Given the description of an element on the screen output the (x, y) to click on. 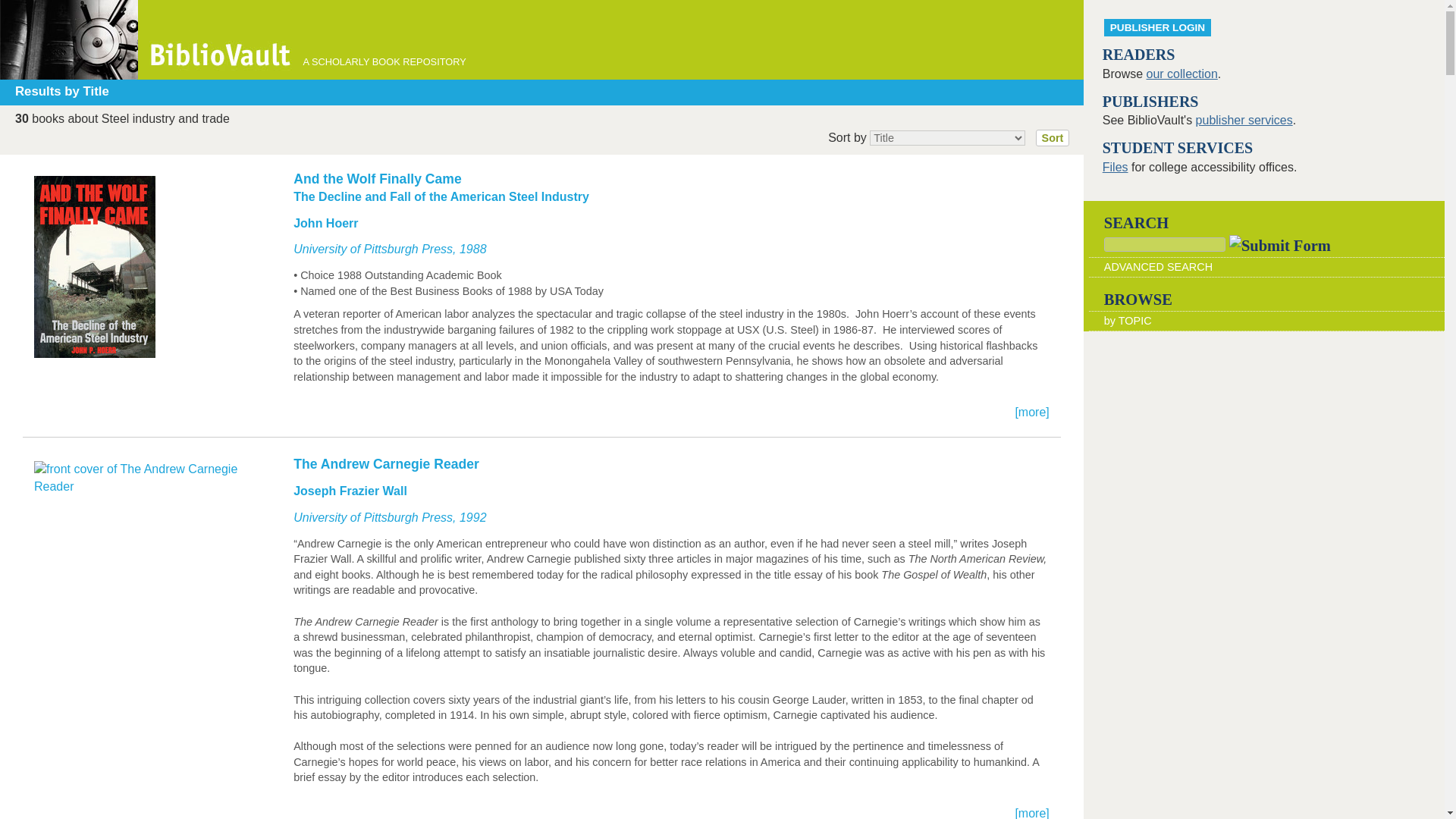
Sort (1052, 138)
